Given the description of an element on the screen output the (x, y) to click on. 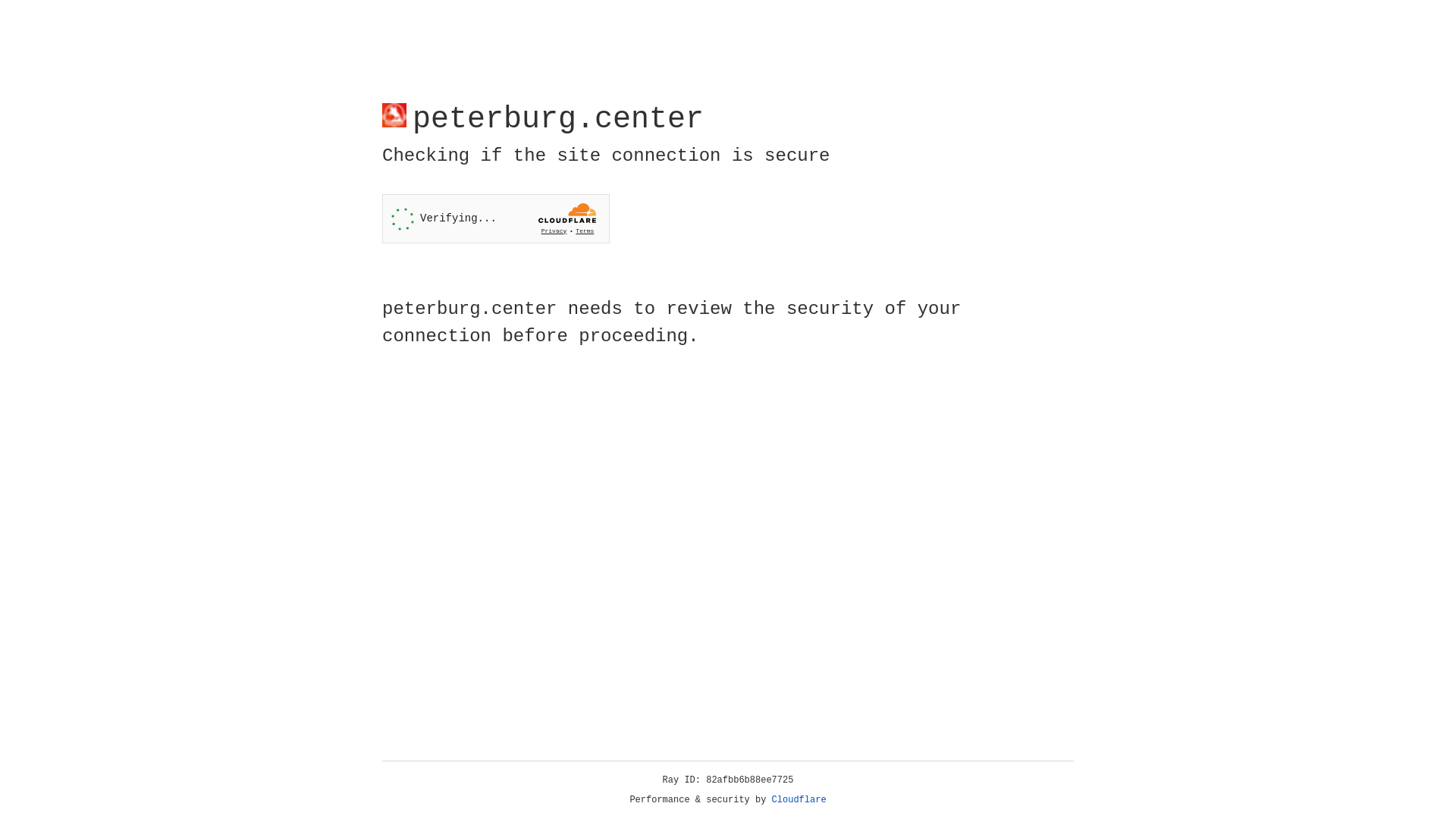
Widget containing a Cloudflare security challenge Element type: hover (495, 218)
Cloudflare Element type: text (798, 799)
